Given the description of an element on the screen output the (x, y) to click on. 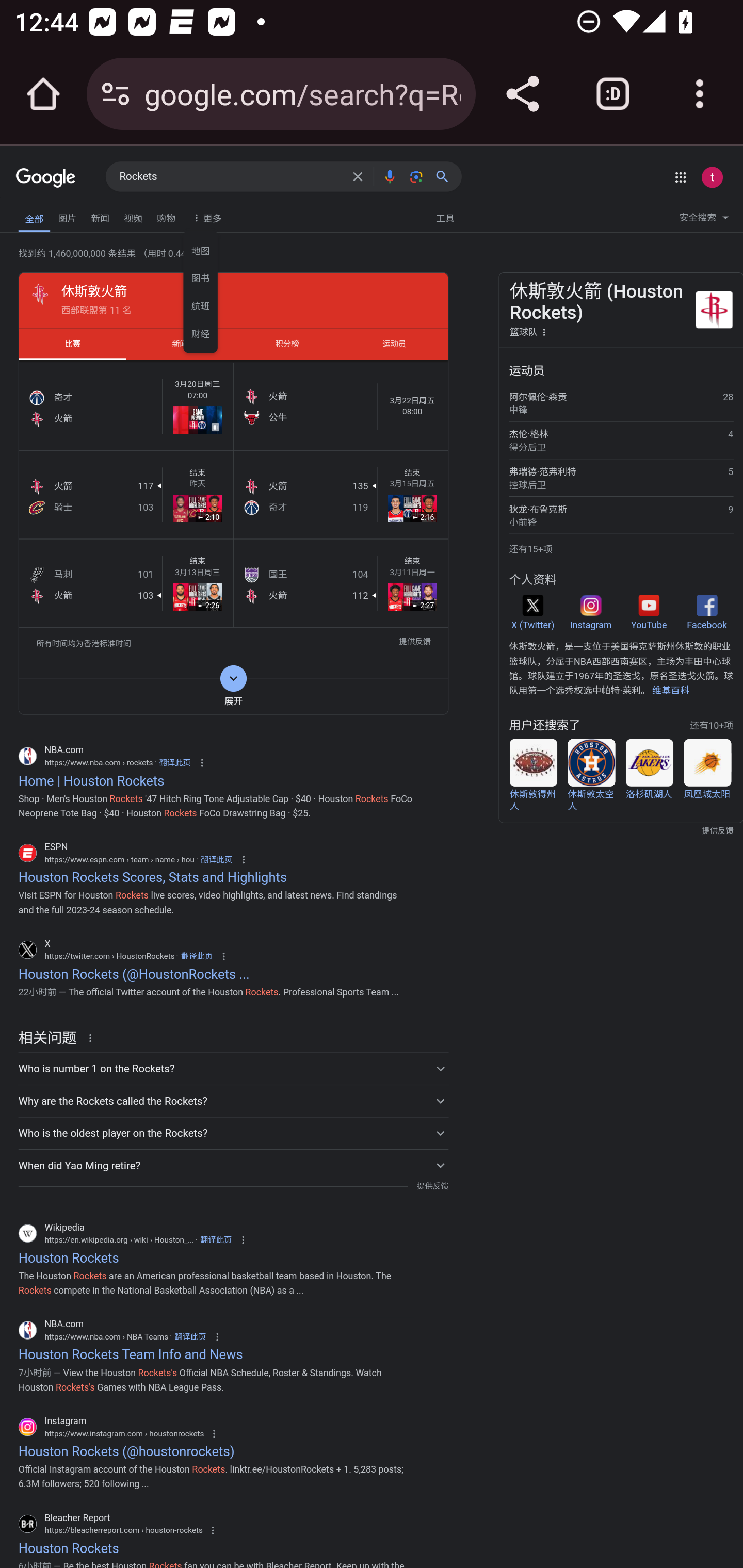
Open the home page (43, 93)
Connection is secure (115, 93)
Share (522, 93)
Switch or close tabs (612, 93)
Customize and control Google Chrome (699, 93)
清除 (357, 176)
按语音搜索 (389, 176)
按图搜索 (415, 176)
搜索 (446, 176)
Google 应用 (680, 176)
Google 账号： test appium (testappium002@gmail.com) (712, 176)
Google (45, 178)
Rockets (229, 177)
无障碍功能反馈 (42, 212)
图片 (67, 216)
新闻 (99, 216)
视频 (133, 216)
购物 (166, 216)
更多 (205, 216)
安全搜索 (703, 219)
工具 (444, 216)
地图 (200, 249)
图书 (200, 277)
休斯敦火箭 西部联盟第 11 名 休斯敦火箭 西部联盟第 11 名 (232, 299)
航班 (200, 304)
财经 (200, 332)
比赛 (71, 343)
积分榜 (286, 343)
运动员 (394, 343)
提供反馈 (414, 642)
展开 (232, 696)
翻译此页 (174, 761)
翻译此页 (215, 858)
翻译此页 (196, 956)
关于这条结果的详细信息 (93, 1037)
Who is number 1 on the Rockets? (232, 1068)
Why are the Rockets called the Rockets? (232, 1099)
Who is the oldest player on the Rockets? (232, 1132)
When did Yao Ming retire? (232, 1164)
提供反馈 (432, 1185)
翻译此页 (215, 1240)
翻译此页 (189, 1336)
